Given the description of an element on the screen output the (x, y) to click on. 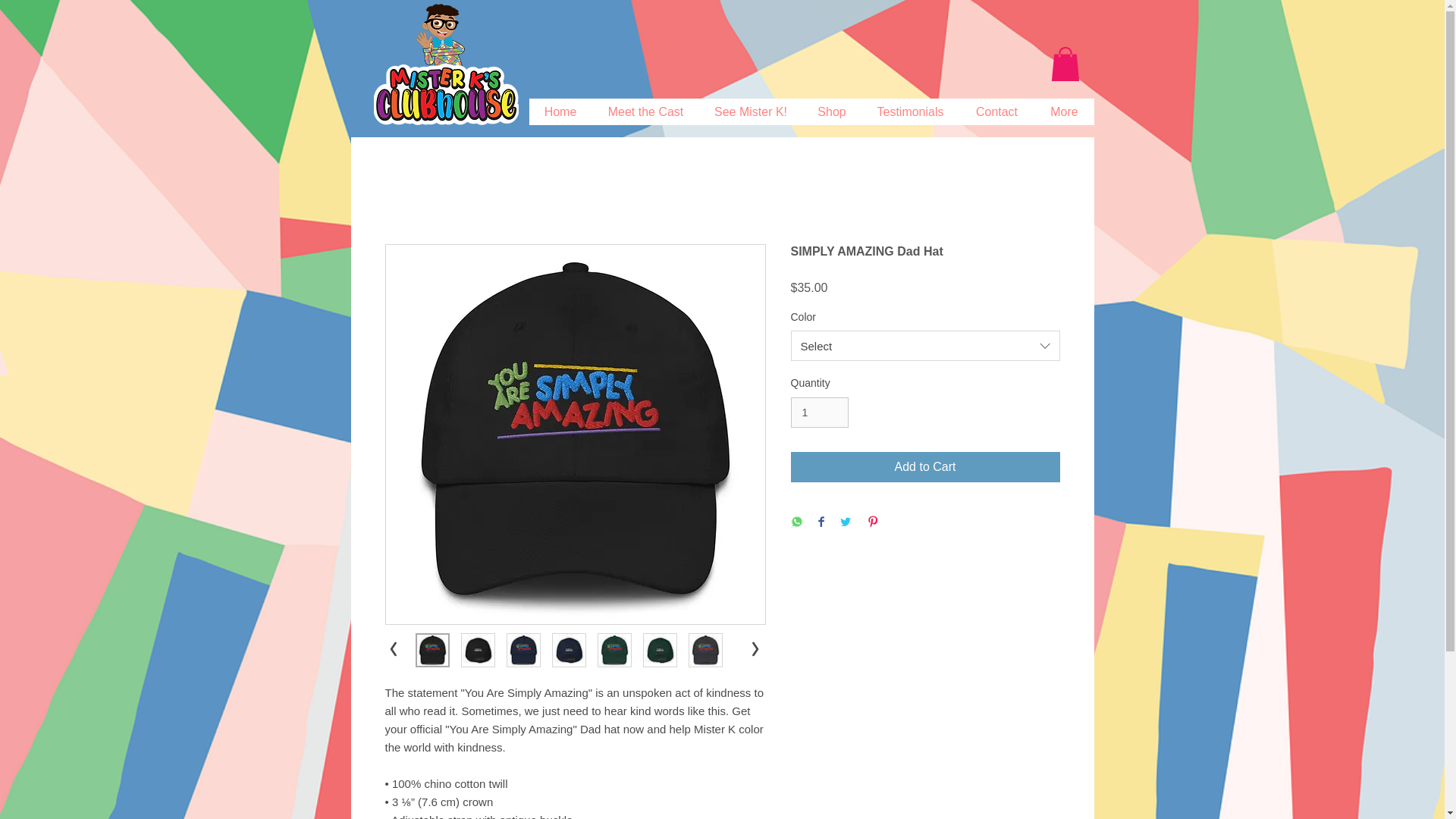
Add to Cart (924, 467)
See Mister K! (750, 111)
Select (924, 345)
Testimonials (910, 111)
Meet the Cast (644, 111)
Contact (995, 111)
Shop (831, 111)
Home (560, 111)
1 (818, 412)
